Given the description of an element on the screen output the (x, y) to click on. 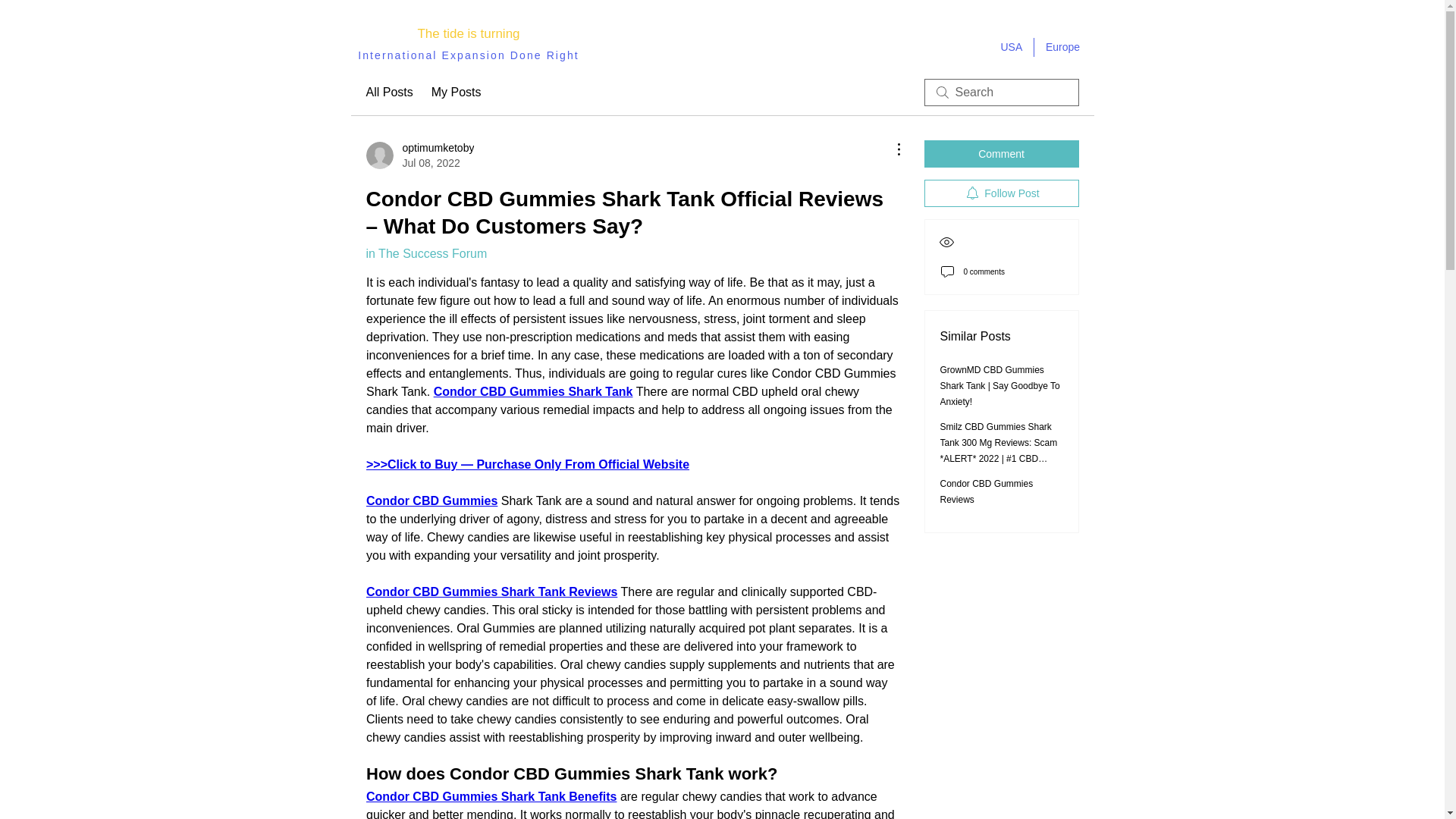
Condor CBD Gummies Shark Tank (531, 391)
Condor CBD Gummies Reviews (986, 491)
All Posts (388, 92)
The tide is turning (467, 33)
Europe (1062, 46)
USA (1010, 46)
Condor CBD Gummies (430, 500)
Comment (1000, 153)
Condor CBD Gummies Shark Tank Reviews (419, 155)
My Posts (490, 591)
Condor CBD Gummies Shark Tank Benefits (455, 92)
Follow Post (490, 796)
in The Success Forum (1000, 193)
